Given the description of an element on the screen output the (x, y) to click on. 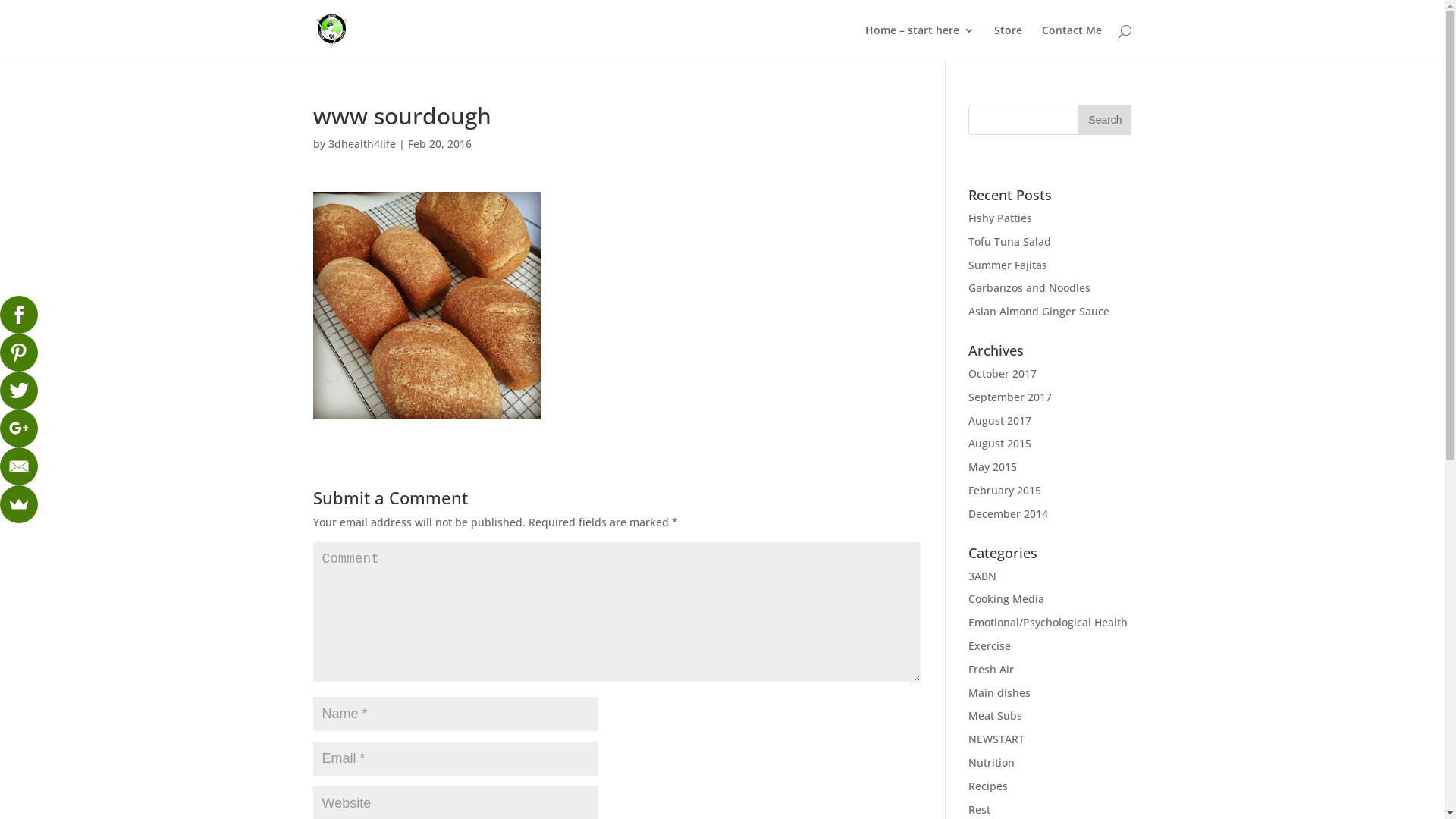
December 2014 Element type: text (1008, 513)
SumoMe Element type: hover (18, 504)
Store Element type: text (1007, 42)
October 2017 Element type: text (1002, 373)
Recipes Element type: text (987, 785)
Rest Element type: text (979, 809)
3ABN Element type: text (982, 575)
Garbanzos and Noodles Element type: text (1029, 287)
February 2015 Element type: text (1004, 490)
Pinterest Element type: hover (18, 352)
Twitter Element type: hover (18, 390)
Facebook Element type: hover (18, 314)
Fresh Air Element type: text (990, 669)
May 2015 Element type: text (992, 466)
Google+ Element type: hover (18, 428)
Contact Me Element type: text (1071, 42)
Email Element type: hover (18, 466)
NEWSTART Element type: text (996, 738)
August 2017 Element type: text (999, 420)
Fishy Patties Element type: text (1000, 217)
September 2017 Element type: text (1009, 396)
Summer Fajitas Element type: text (1007, 264)
Cooking Media Element type: text (1006, 598)
3dhealth4life Element type: text (361, 143)
Meat Subs Element type: text (995, 715)
Emotional/Psychological Health Element type: text (1047, 622)
Nutrition Element type: text (991, 762)
Search Element type: text (1104, 119)
Tofu Tuna Salad Element type: text (1009, 241)
Exercise Element type: text (989, 645)
Asian Almond Ginger Sauce Element type: text (1038, 311)
Main dishes Element type: text (999, 692)
August 2015 Element type: text (999, 443)
